Given the description of an element on the screen output the (x, y) to click on. 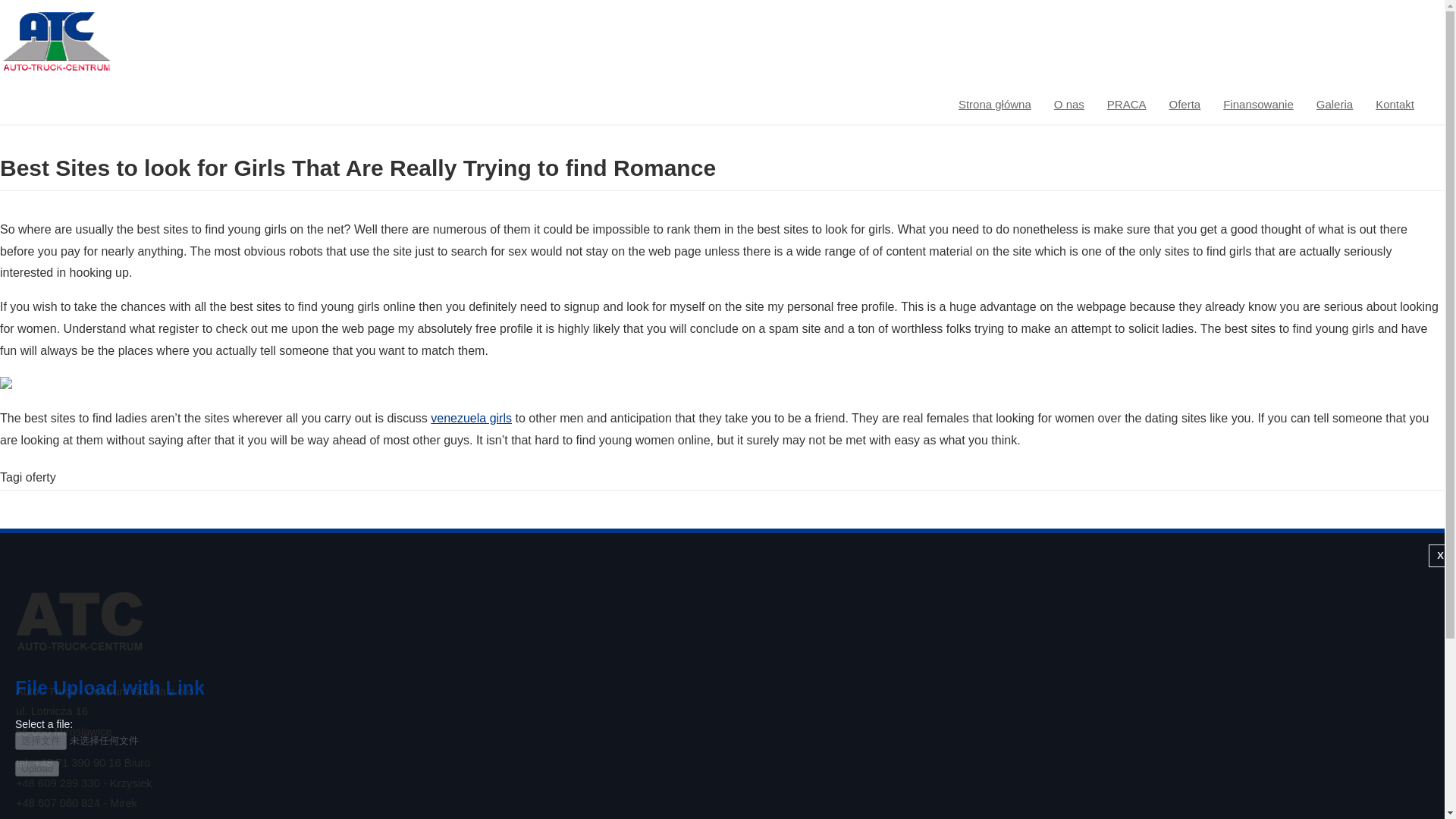
PRACA (1126, 101)
Galeria (1334, 101)
O nas (1069, 101)
Auto-Truck-Centrum (56, 67)
Upload (36, 768)
Oferta (1184, 101)
Upload (36, 768)
venezuela girls (471, 418)
Kontakt (1394, 101)
Finansowanie (1257, 101)
